Given the description of an element on the screen output the (x, y) to click on. 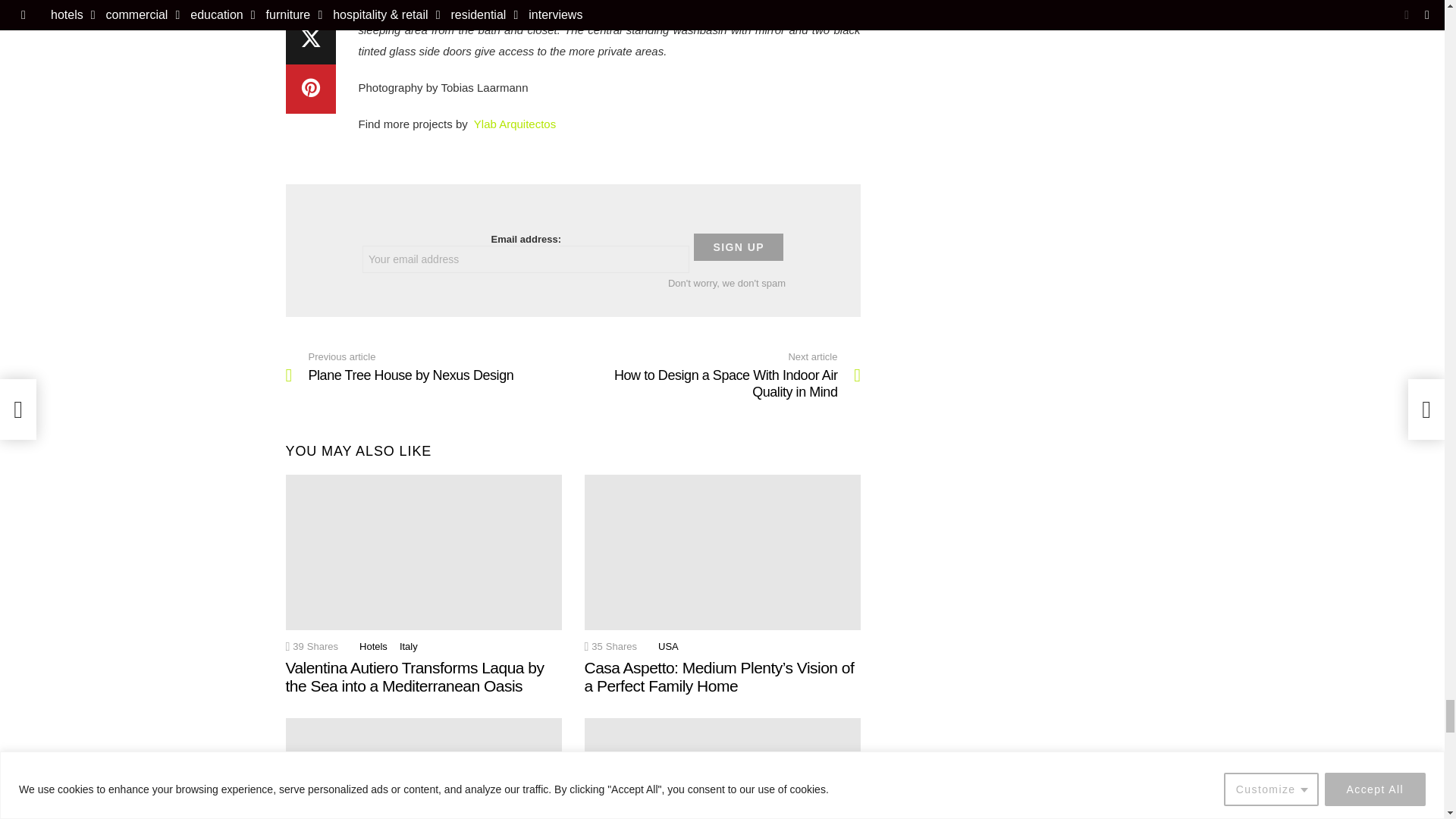
Sign up (738, 247)
